Given the description of an element on the screen output the (x, y) to click on. 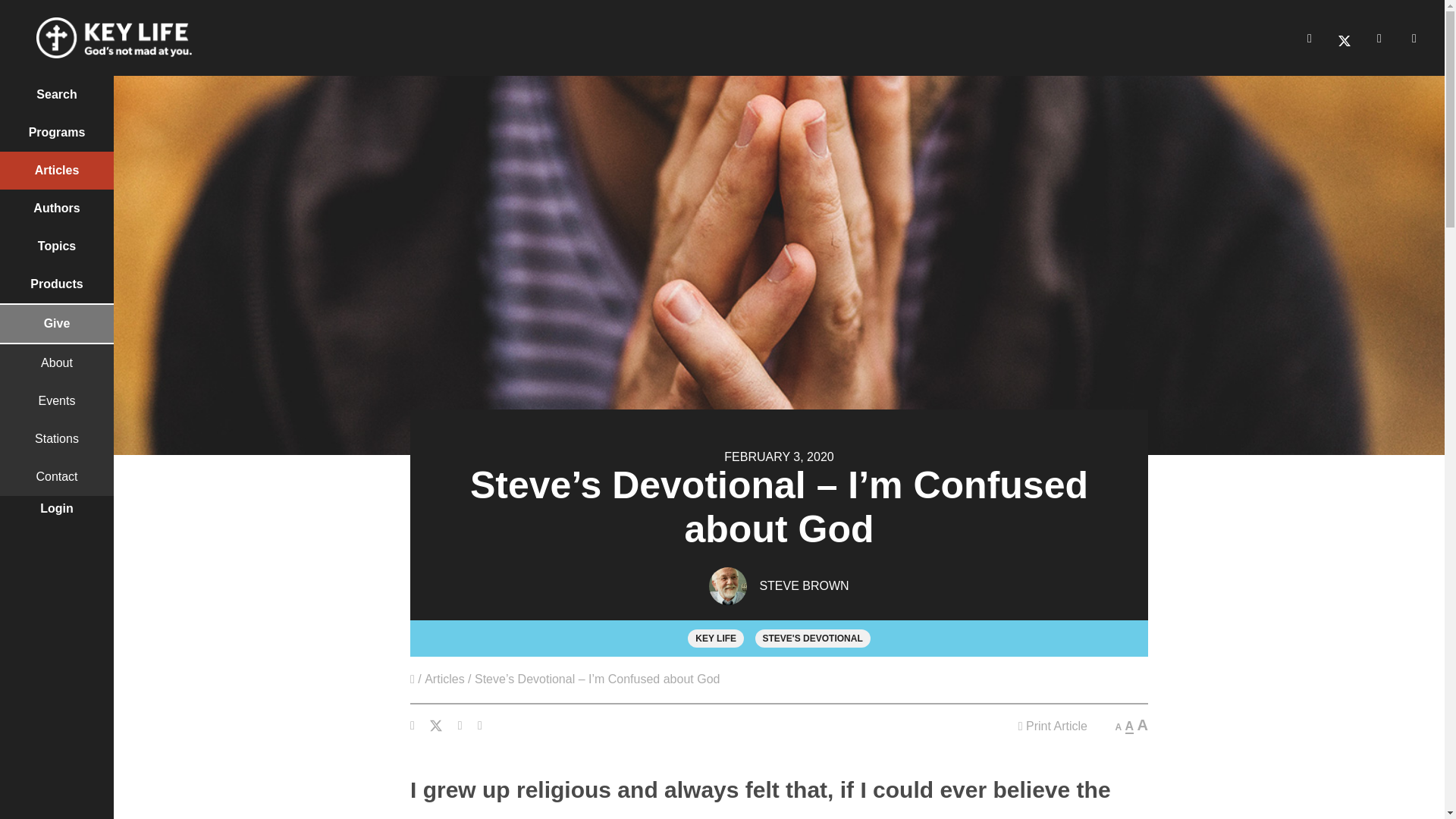
Stations (56, 438)
Articles (444, 680)
Print Article (1052, 726)
Give (56, 323)
Search (56, 94)
Programs (56, 132)
STEVE'S DEVOTIONAL (812, 638)
Authors (56, 208)
Products (56, 284)
KEY LIFE (715, 638)
